Given the description of an element on the screen output the (x, y) to click on. 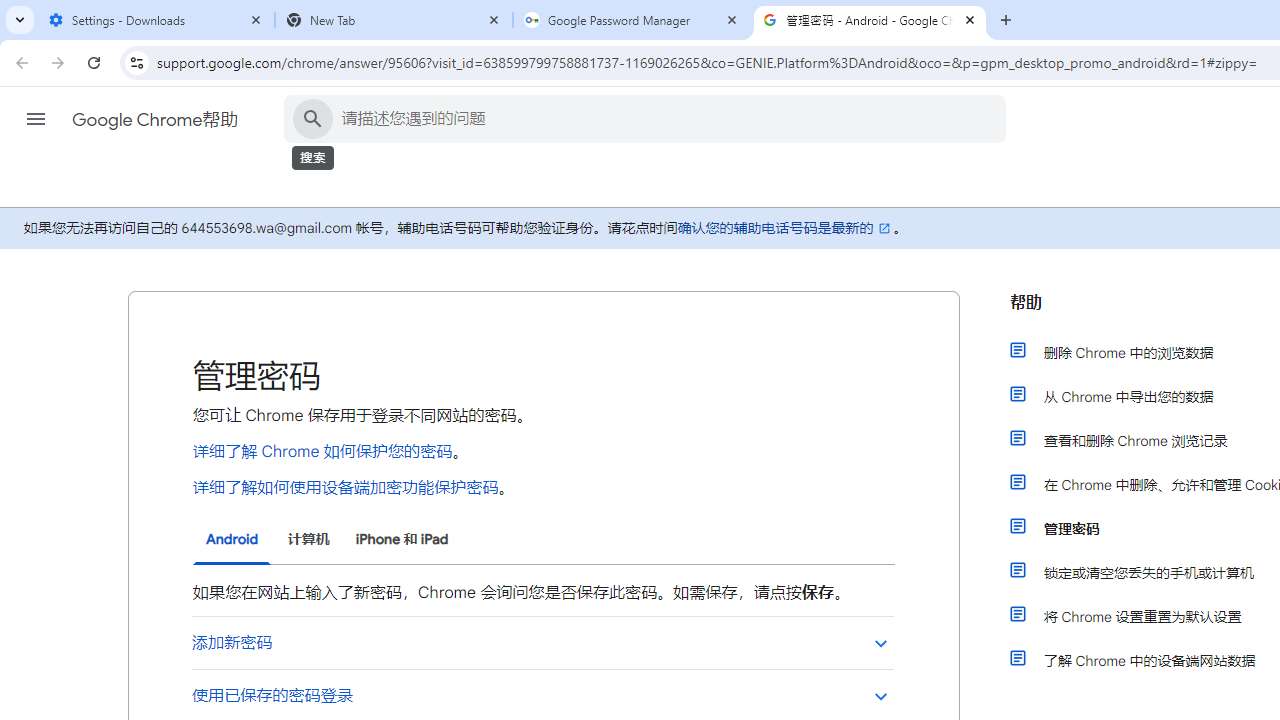
Android (232, 540)
Settings - Downloads (156, 20)
New Tab (394, 20)
